Given the description of an element on the screen output the (x, y) to click on. 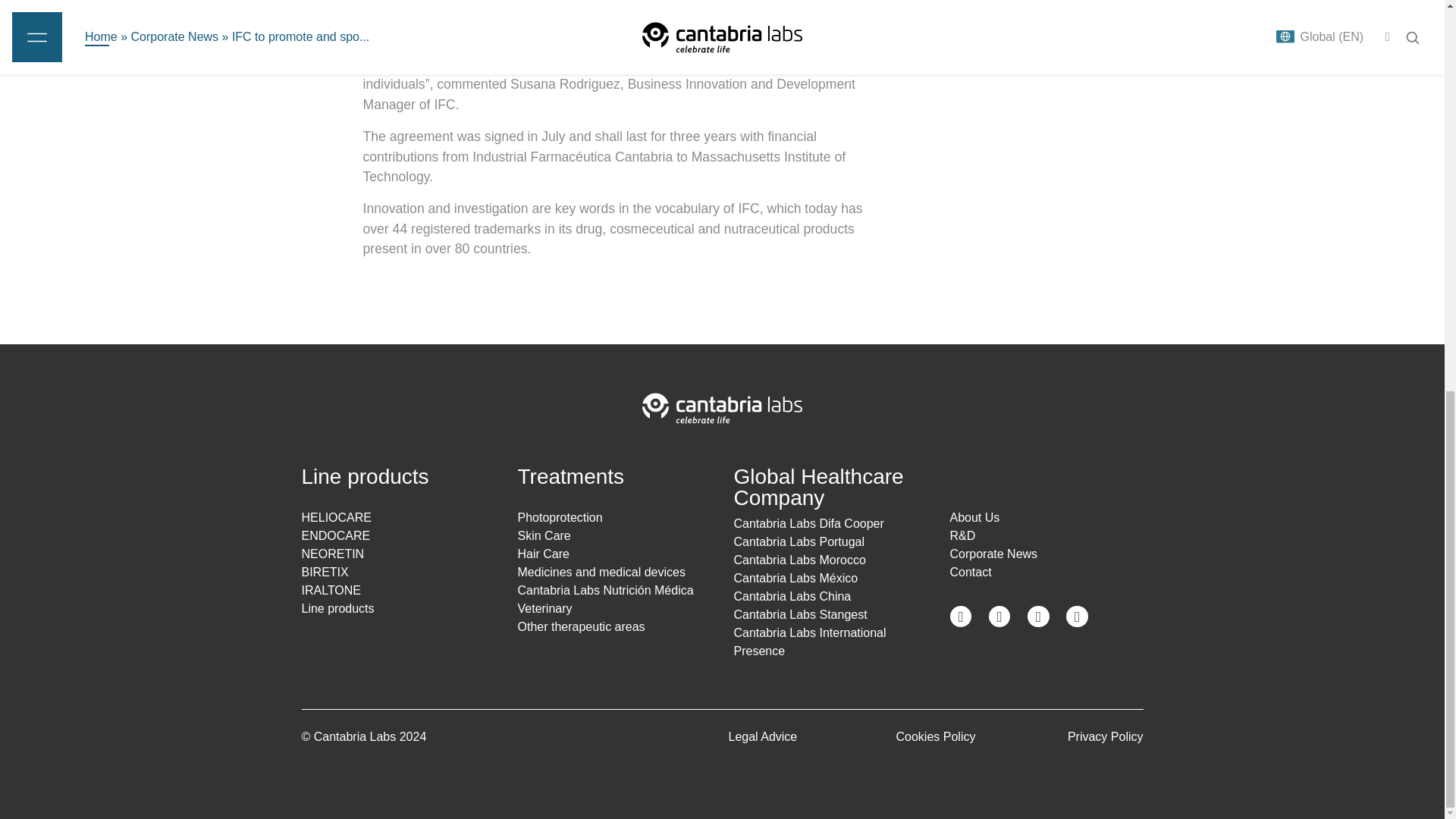
Cantabria Labs (722, 406)
